Given the description of an element on the screen output the (x, y) to click on. 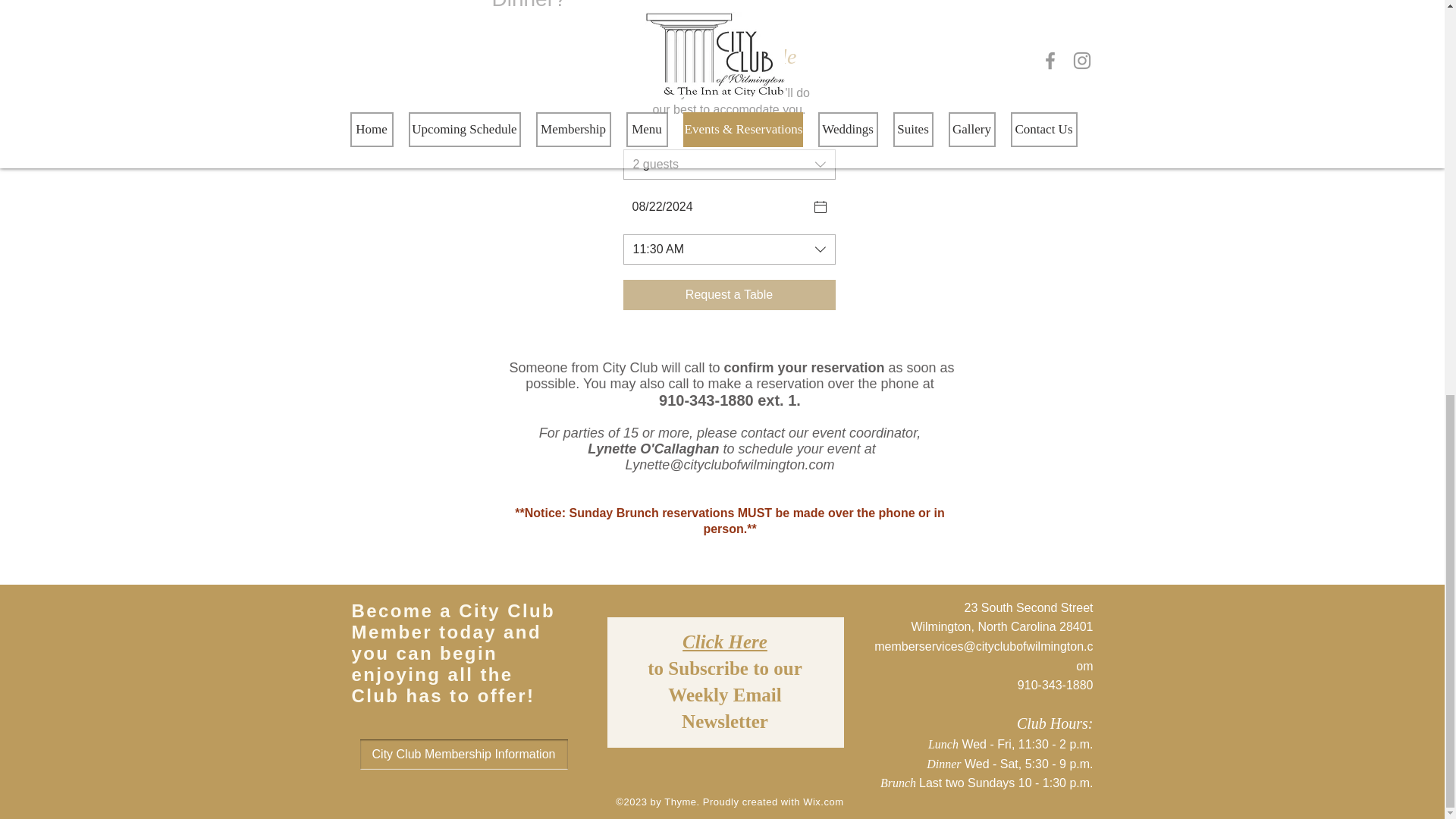
2 guests (729, 164)
Request a Table (729, 295)
11:30 AM (729, 249)
City Club Membership Information (463, 754)
Click Here (724, 641)
Wix.com (823, 801)
